Given the description of an element on the screen output the (x, y) to click on. 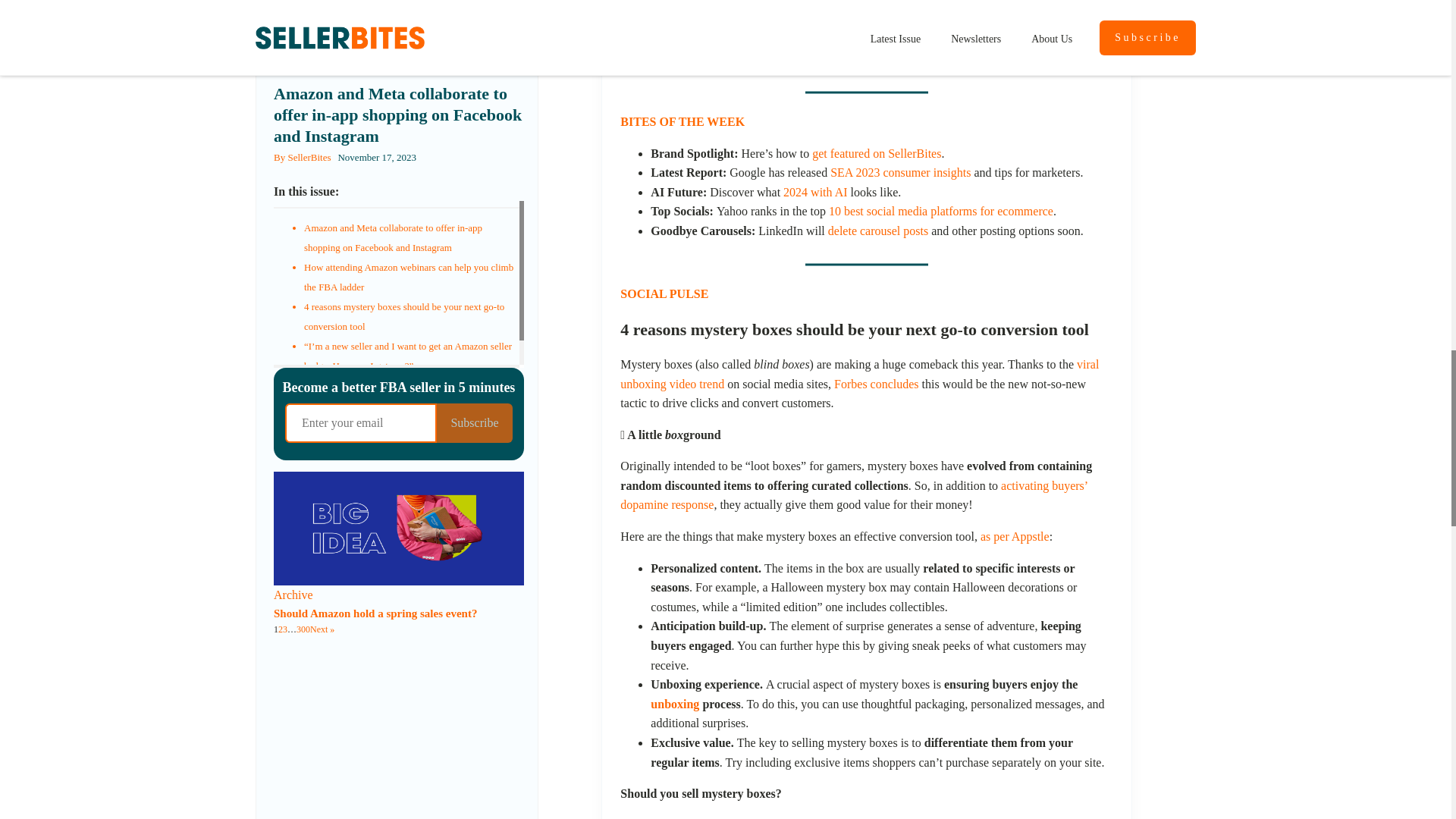
2024 with AI (815, 192)
Join the Seller Alliance Community (859, 7)
10 best social media platforms for ecommerce (940, 210)
Opens in a new window (859, 7)
Opens in a new window (940, 210)
delete carousel posts (878, 230)
as per Appstle (1014, 535)
viral unboxing video trend (859, 373)
Forbes concludes (876, 383)
Opens in a new window (878, 230)
Opens in a new window (900, 172)
Opens in a new window (815, 192)
get featured on SellerBites (876, 153)
SEA 2023 consumer insights (900, 172)
Opens in a new window (859, 373)
